Given the description of an element on the screen output the (x, y) to click on. 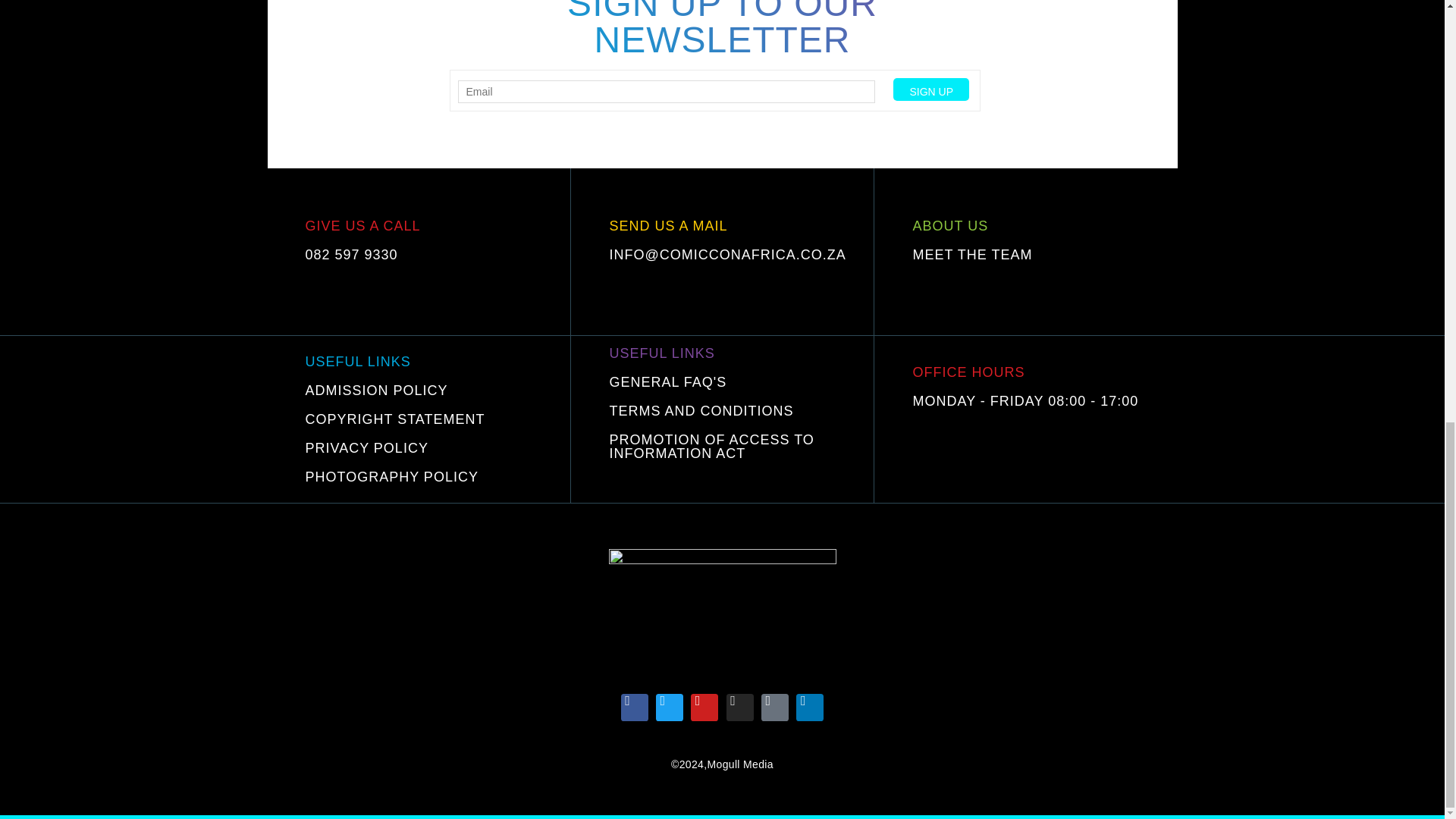
SIGN UP (931, 88)
